Given the description of an element on the screen output the (x, y) to click on. 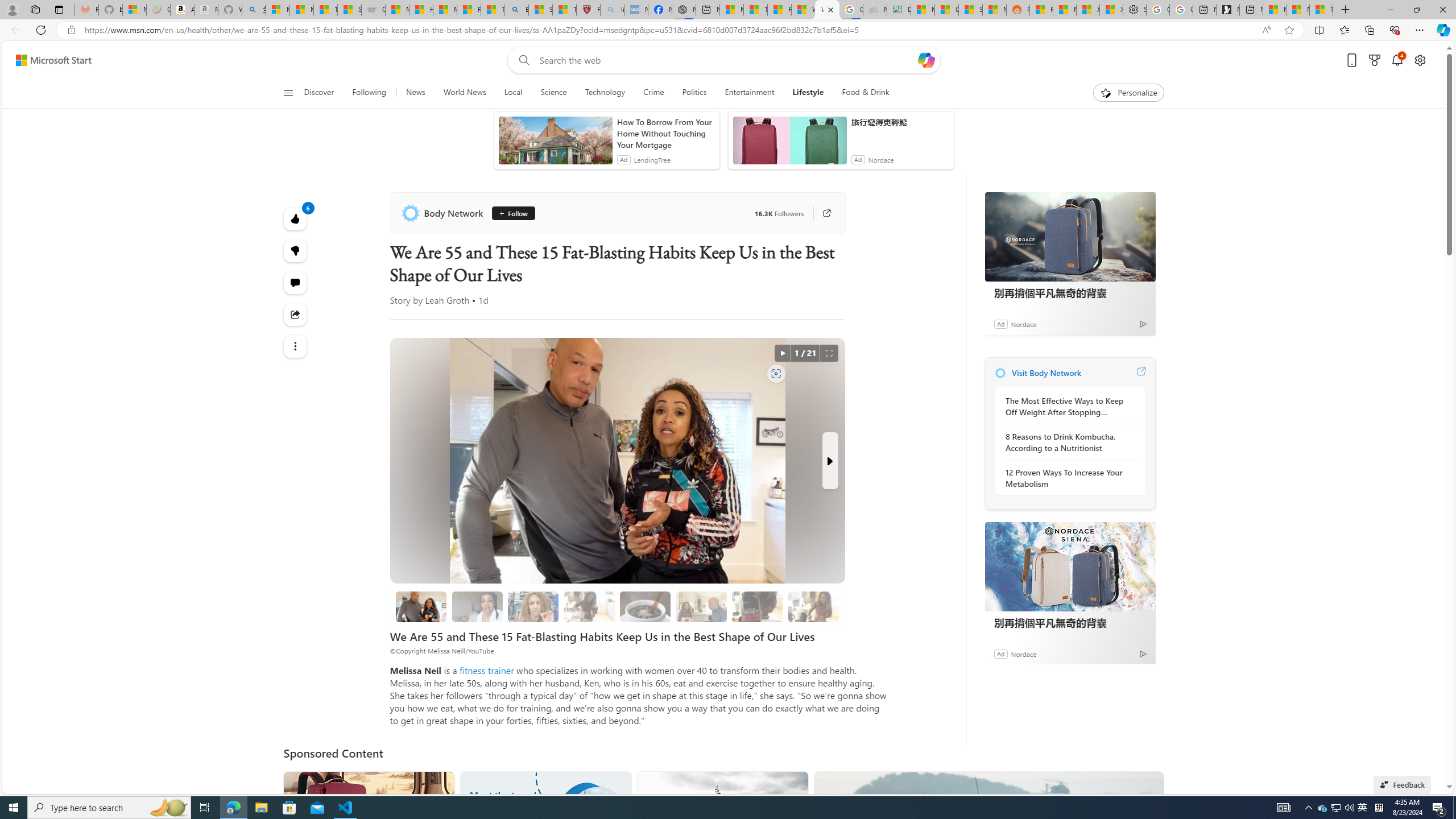
1 We Eat a Protein-Packed Pre-Workout Snack (477, 606)
anim-content (789, 144)
Class: progress (813, 604)
Food & Drink (860, 92)
